Given the description of an element on the screen output the (x, y) to click on. 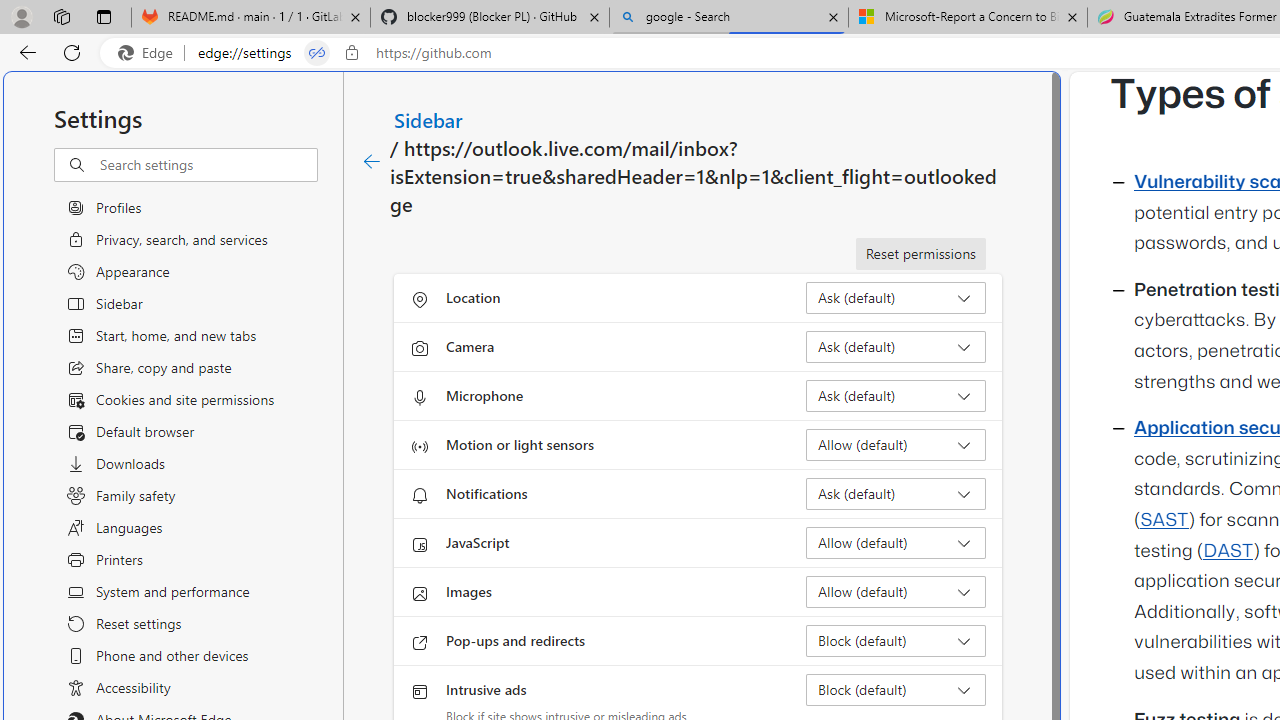
Class: c01182 (371, 161)
Motion or light sensors Allow (default) (895, 444)
Go back to Sidebar page. (372, 162)
Camera Ask (default) (895, 346)
Microphone Ask (default) (895, 395)
Edge (150, 53)
Sidebar (429, 119)
Pop-ups and redirects Block (default) (895, 640)
Tabs in split screen (317, 53)
